Given the description of an element on the screen output the (x, y) to click on. 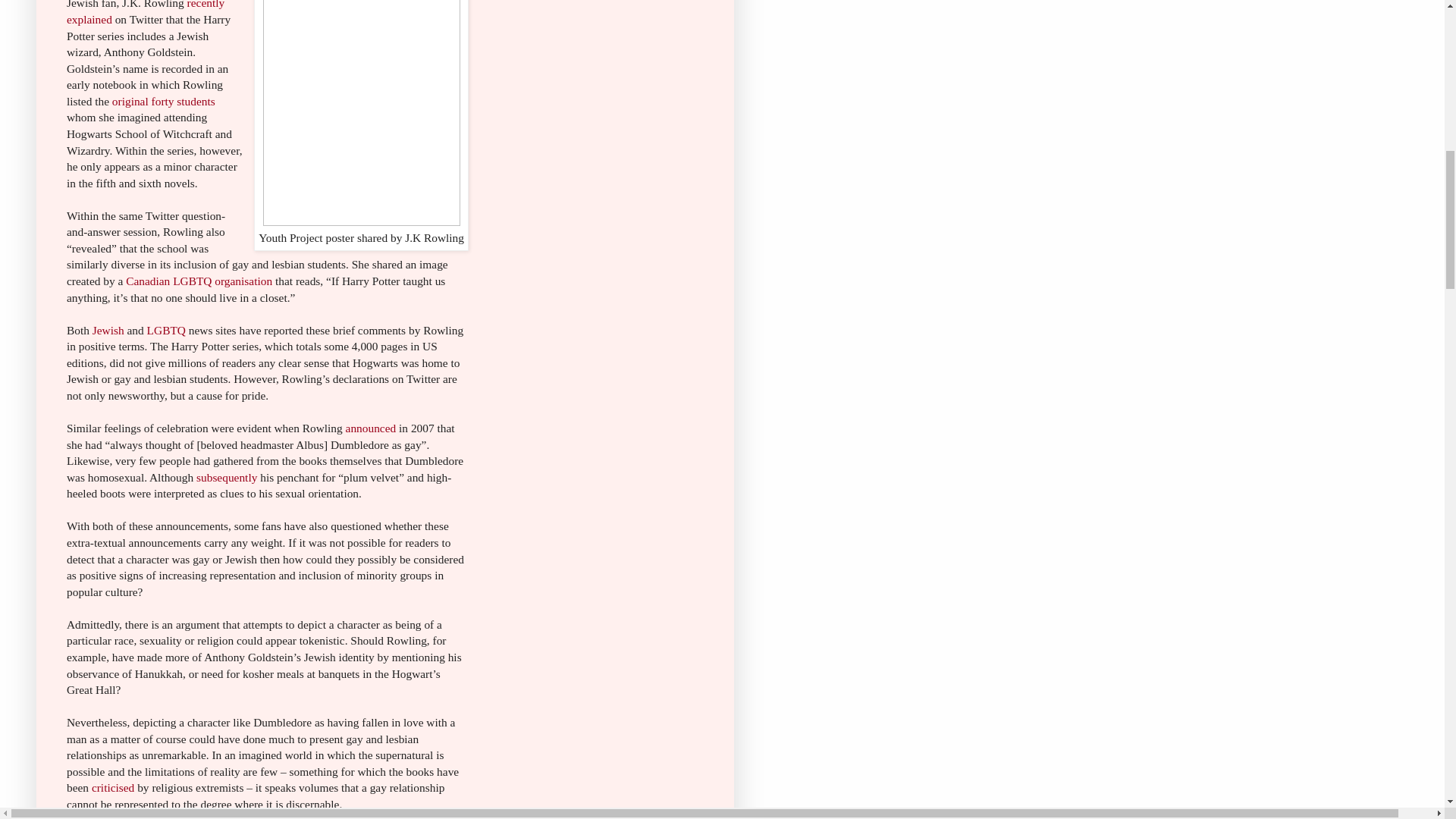
LGBTQ (166, 329)
recently explained (145, 12)
Jewish (108, 329)
criticised (112, 787)
Canadian LGBTQ organisation (200, 280)
subsequently (226, 477)
announced (371, 427)
original forty students (163, 101)
